Given the description of an element on the screen output the (x, y) to click on. 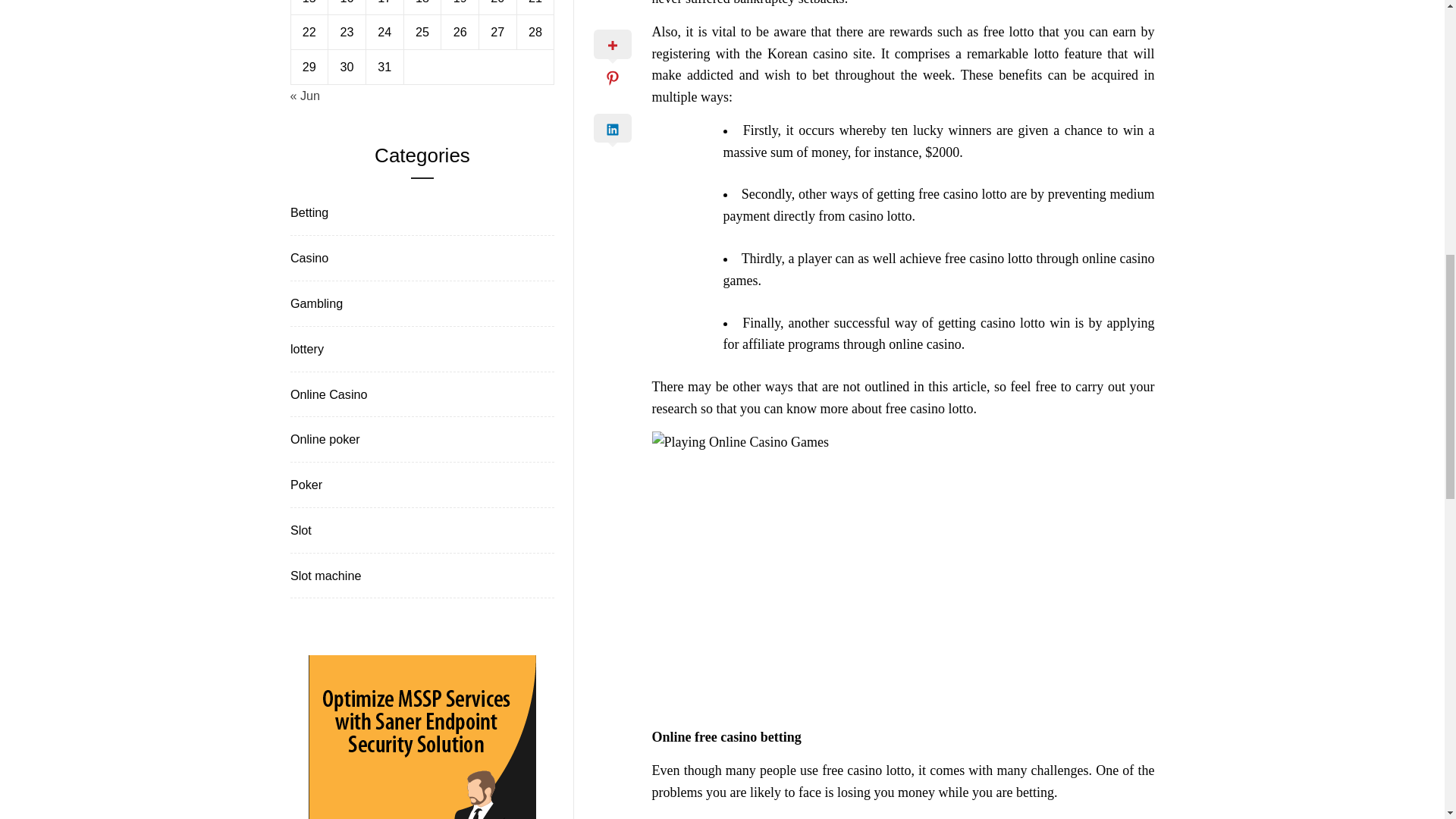
lottery (304, 349)
Betting (307, 212)
Casino (307, 258)
Gambling (314, 303)
